Given the description of an element on the screen output the (x, y) to click on. 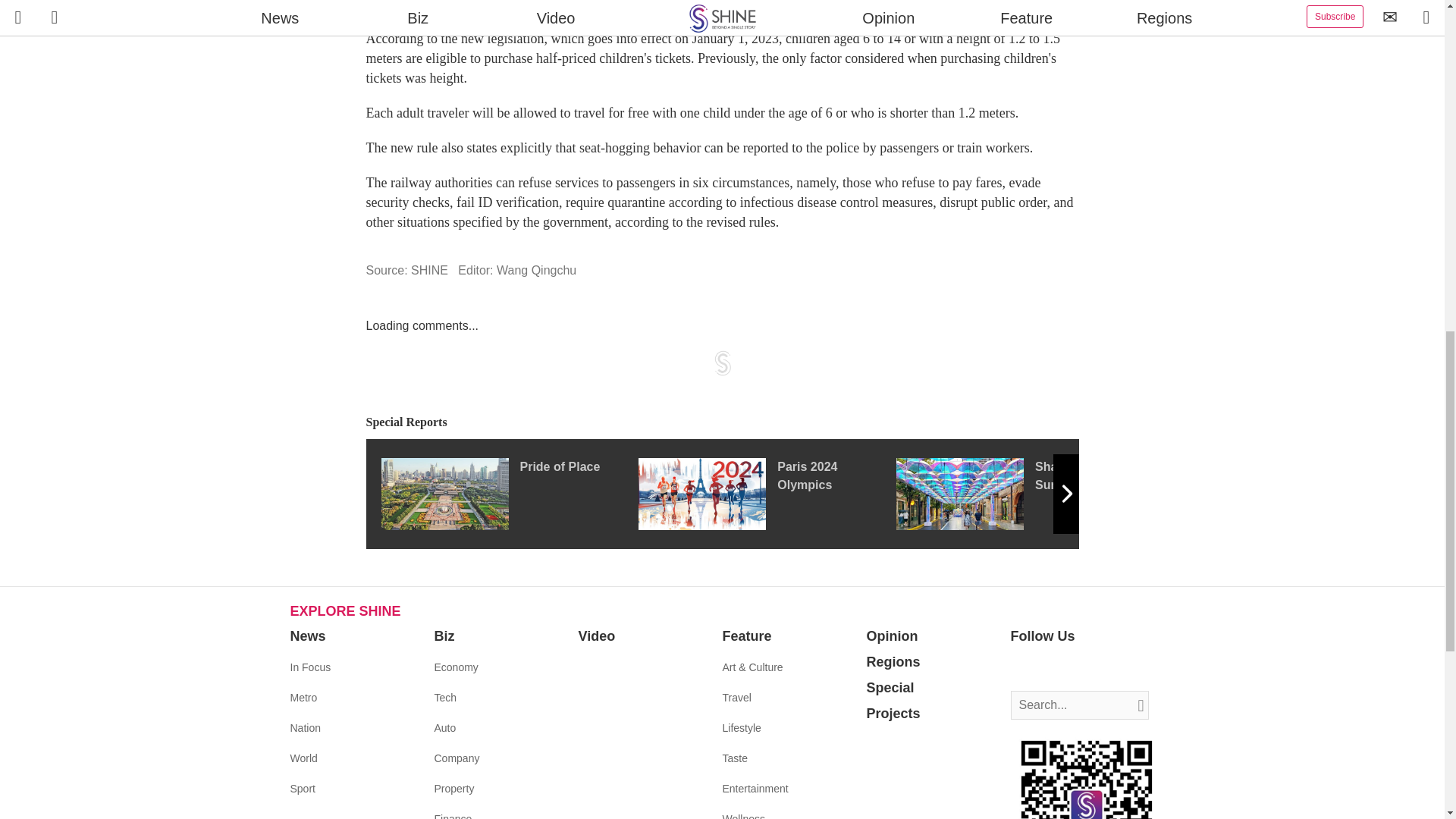
Follow us on Youtube (1090, 668)
Metro (303, 697)
Follow us on Facebook (1021, 668)
Pride of Place (508, 493)
Nation (304, 727)
Follow us on Twitter (1044, 668)
Special Reports (721, 422)
World (303, 758)
Follow us on Instagram (1067, 668)
Paris 2024 Olympics (767, 493)
News (306, 635)
Follow us on Wechat (1112, 668)
In Focus (309, 666)
Shanghai Summer (1024, 493)
